Given the description of an element on the screen output the (x, y) to click on. 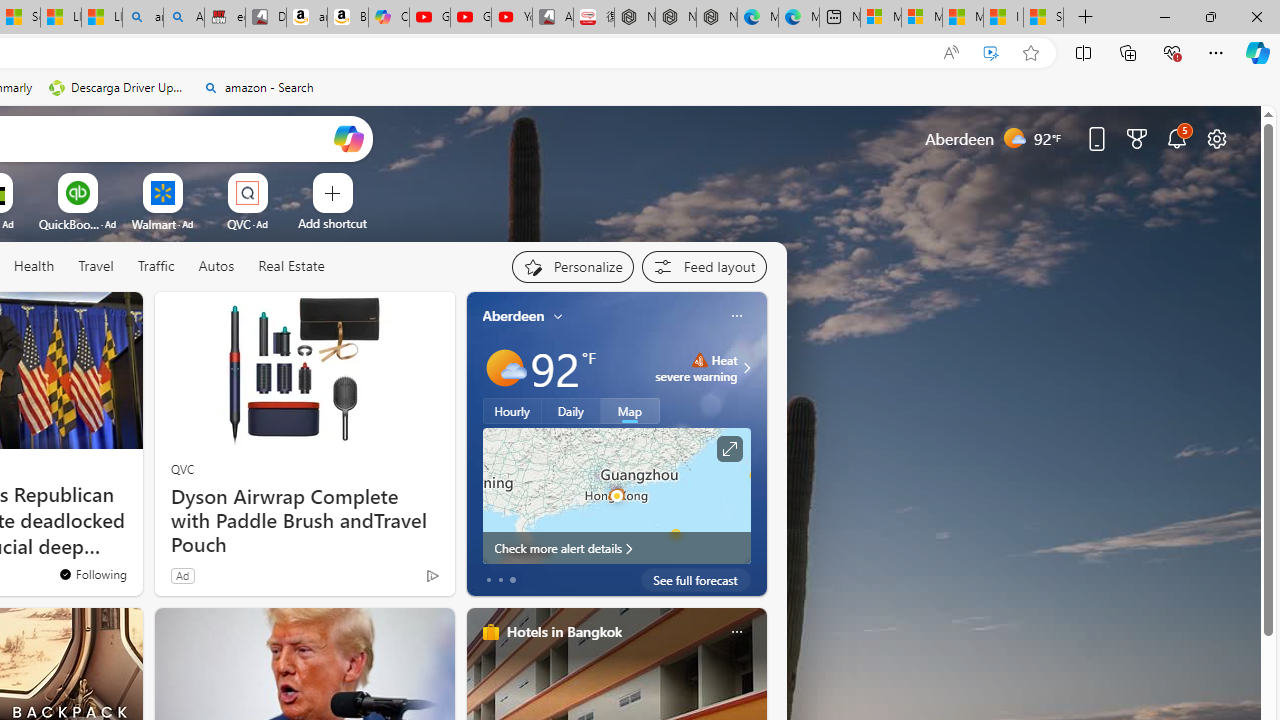
New tab (840, 17)
tab-1 (500, 579)
Microsoft account | Privacy (922, 17)
Daily (571, 411)
Enhance video (991, 53)
Click to see more information (728, 449)
Descarga Driver Updater (118, 88)
Mostly sunny (504, 368)
Personalize your feed" (571, 266)
Check more alert details (616, 547)
Collections (1128, 52)
I Gained 20 Pounds of Muscle in 30 Days! | Watch (1003, 17)
Gloom - YouTube (470, 17)
Microsoft rewards (1137, 138)
